Given the description of an element on the screen output the (x, y) to click on. 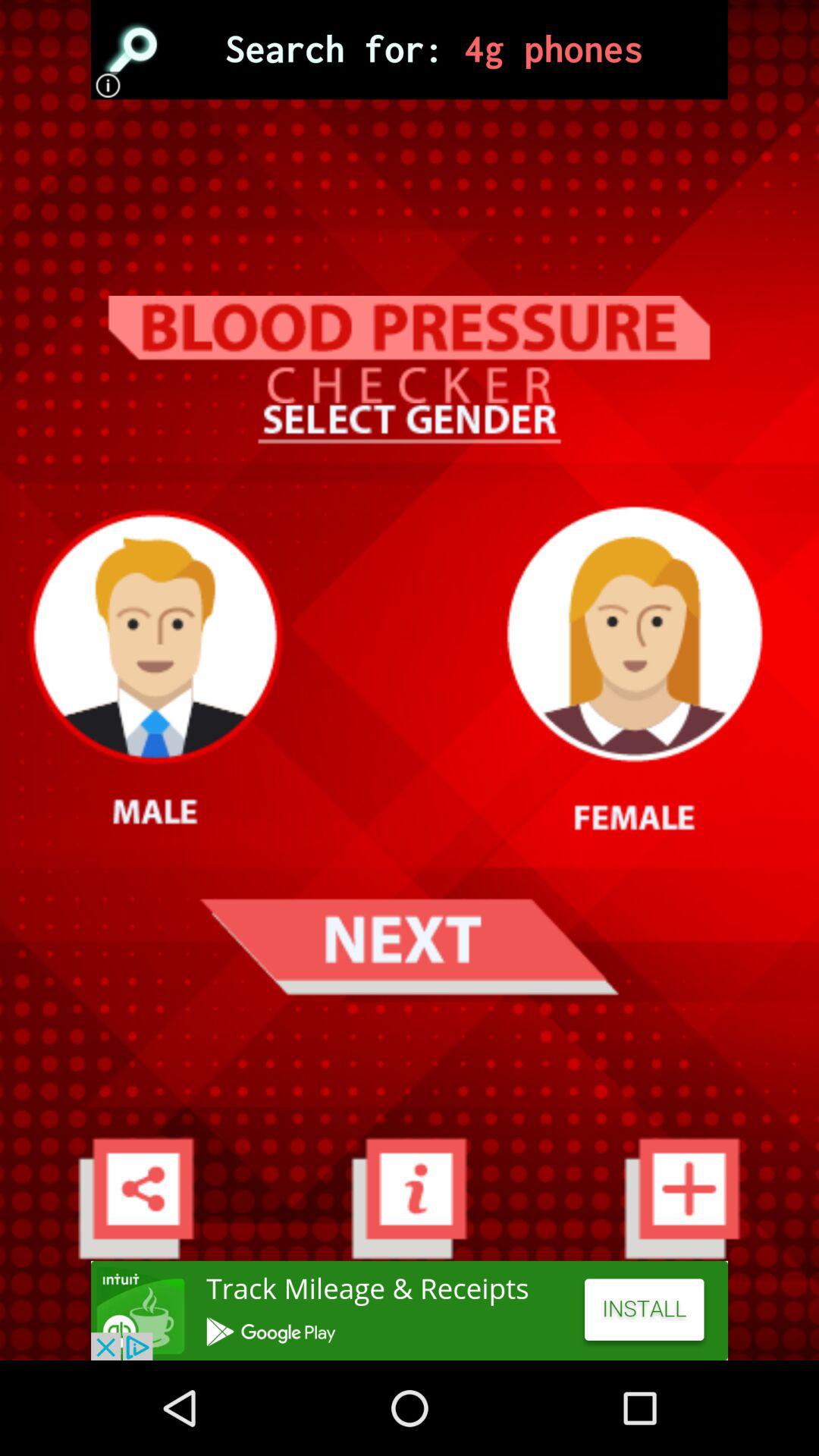
more options (135, 1197)
